Given the description of an element on the screen output the (x, y) to click on. 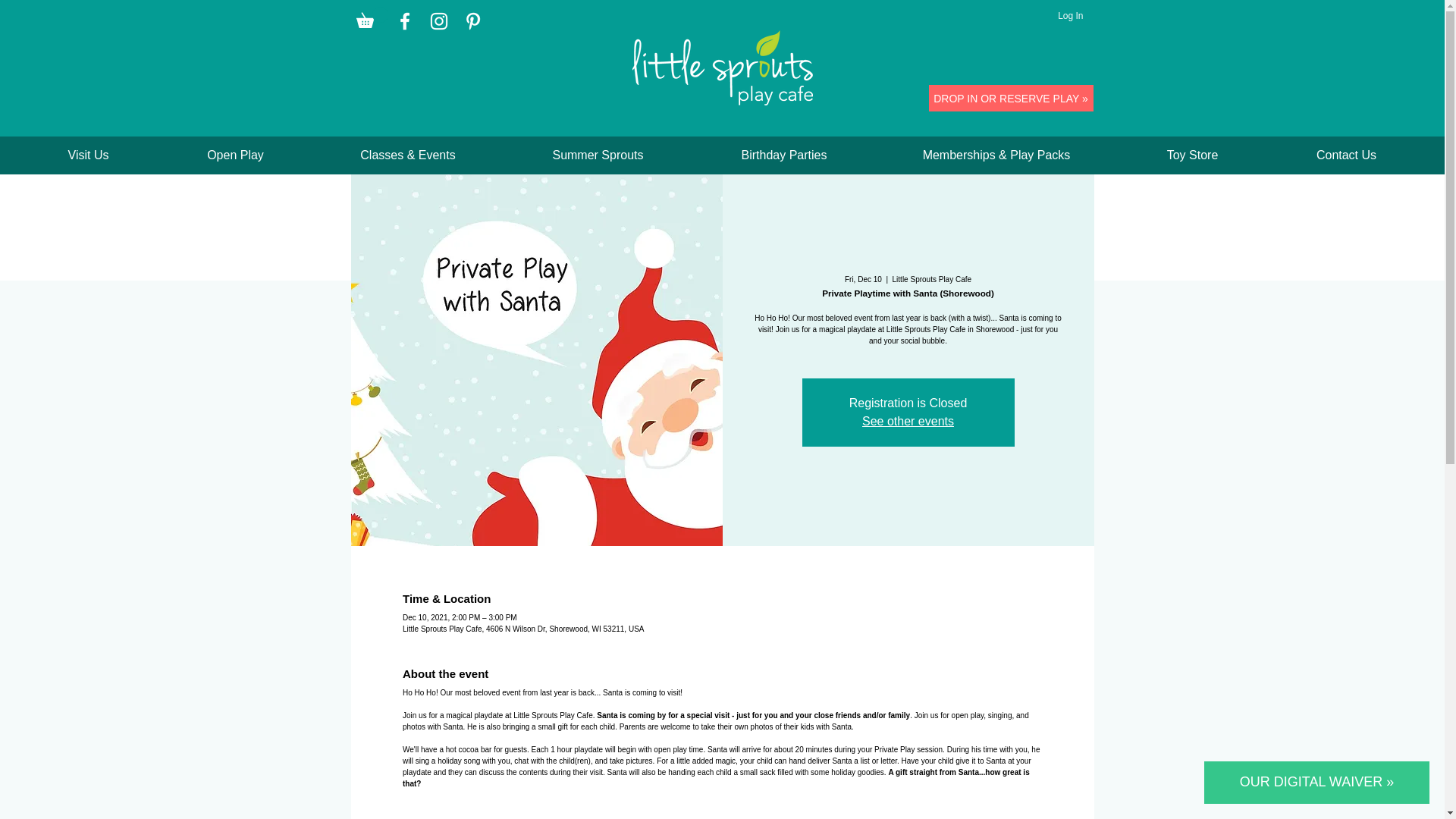
Contact Us (1345, 155)
Birthday Parties (784, 155)
Log In (1069, 15)
Visit Us (87, 155)
Summer Sprouts (597, 155)
Toy Store (1192, 155)
Open Play (235, 155)
See other events (907, 420)
